Given the description of an element on the screen output the (x, y) to click on. 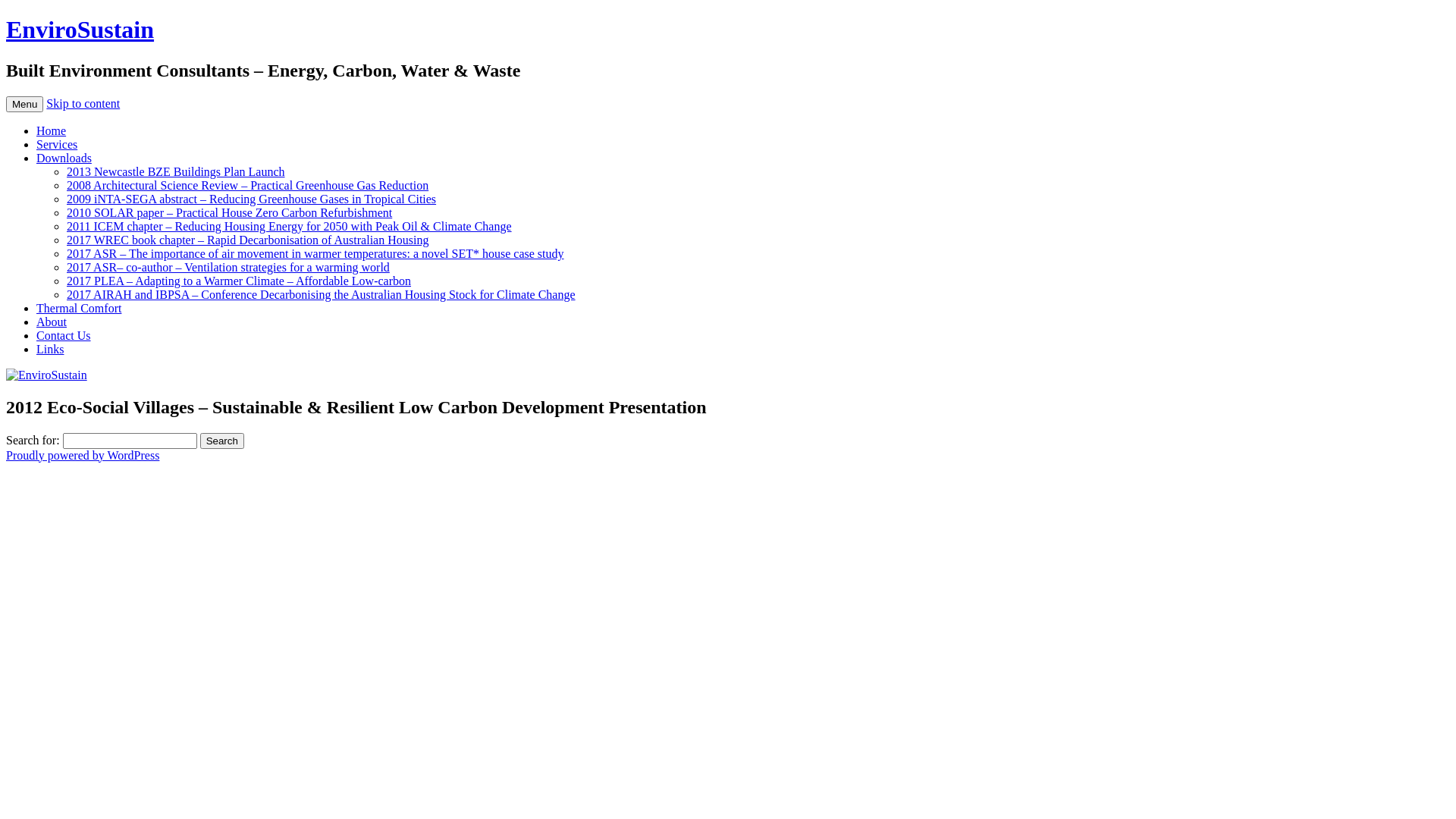
Search Element type: text (222, 440)
Menu Element type: text (24, 104)
2013 Newcastle BZE Buildings Plan Launch Element type: text (175, 171)
Services Element type: text (56, 144)
About Element type: text (51, 321)
Links Element type: text (49, 348)
Downloads Element type: text (63, 157)
EnviroSustain Element type: text (79, 29)
Skip to content Element type: text (82, 103)
Proudly powered by WordPress Element type: text (82, 454)
Home Element type: text (50, 130)
Contact Us Element type: text (63, 335)
Thermal Comfort Element type: text (78, 307)
